Given the description of an element on the screen output the (x, y) to click on. 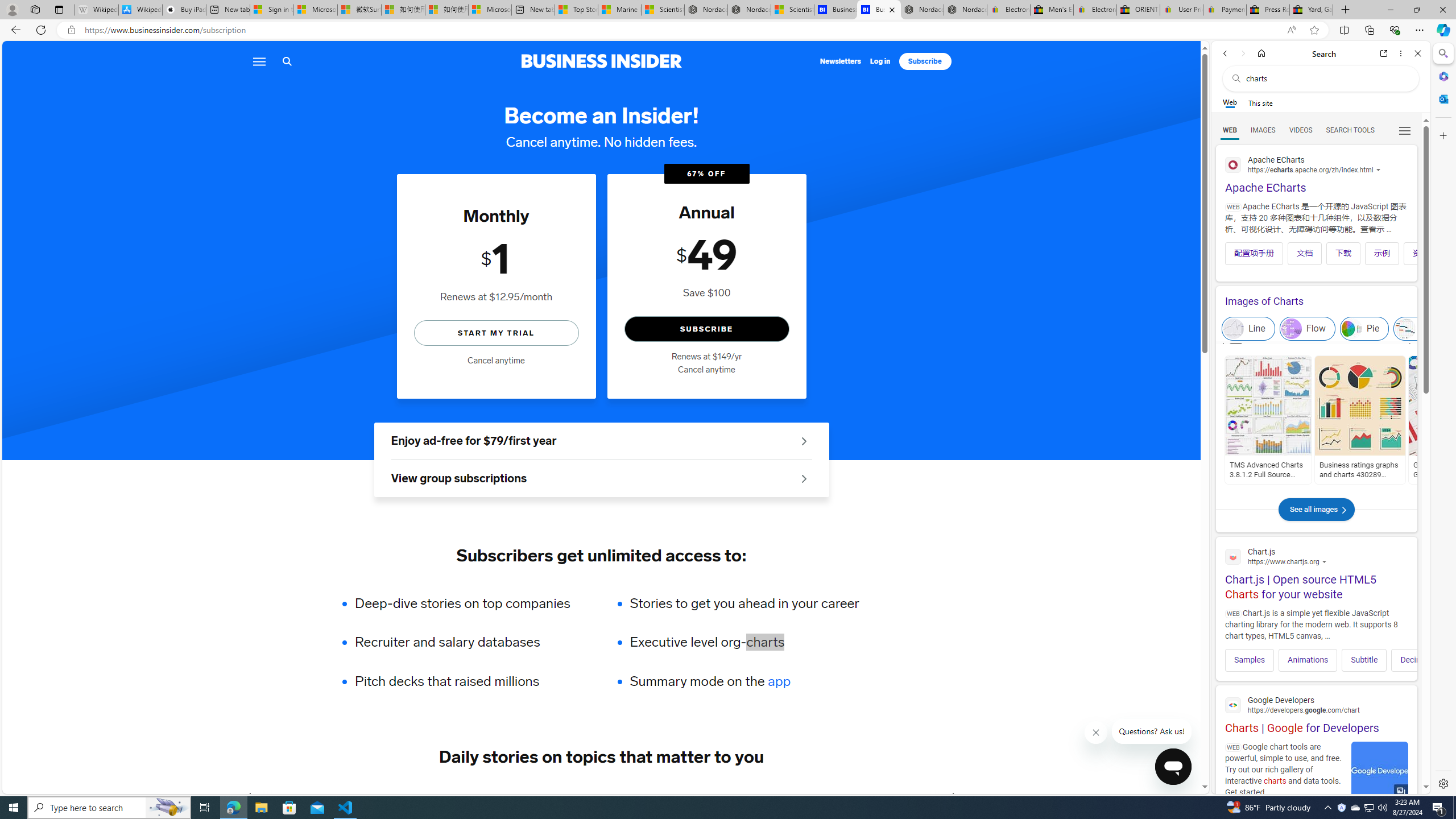
SamplesAnimationsSubtitleDecimation PluginBubbleDocs (1315, 656)
Recruiter and salary databases (470, 642)
Deep-dive stories on top companies (470, 602)
